Given the description of an element on the screen output the (x, y) to click on. 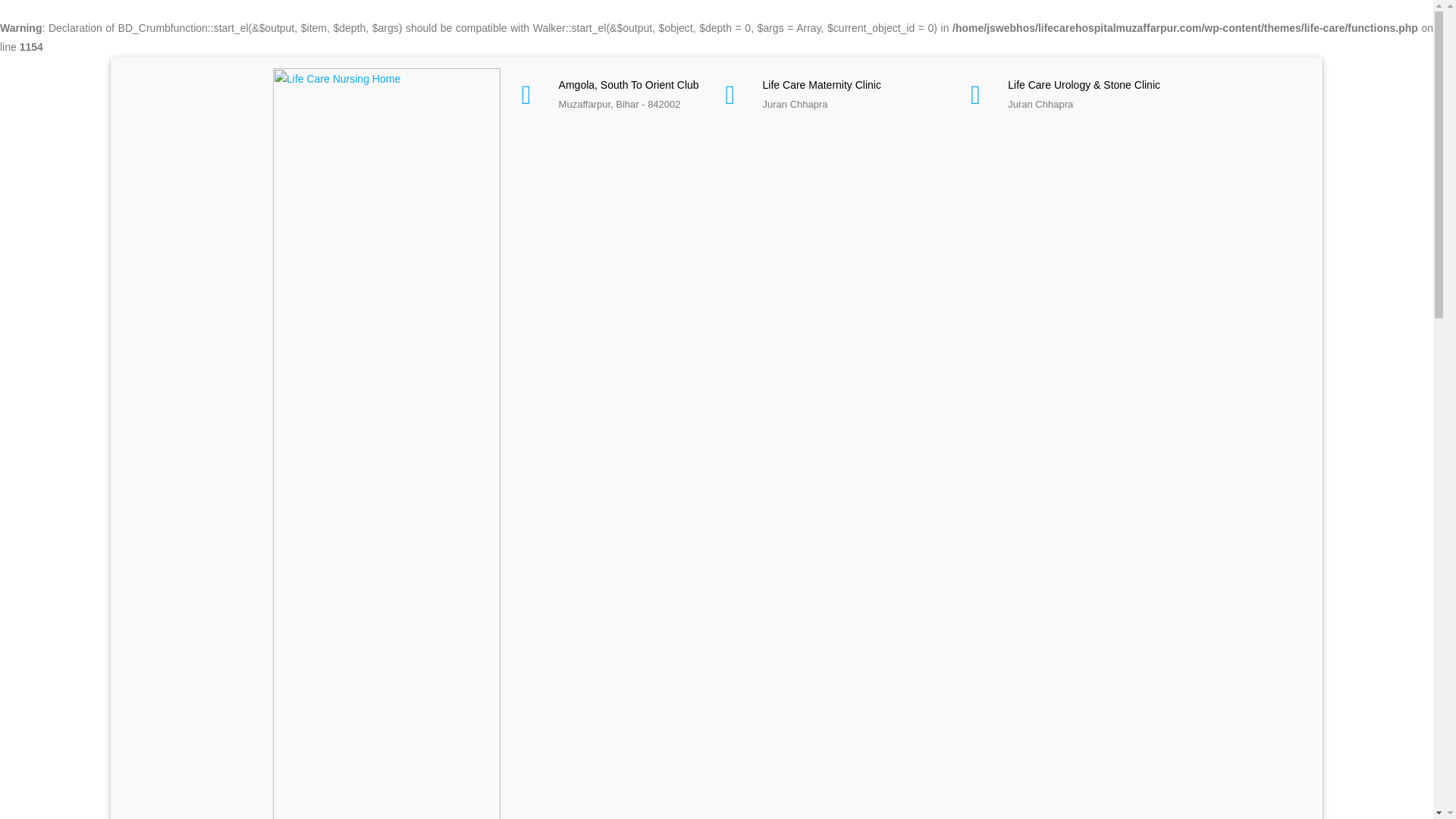
Life Care Nursing Home (386, 476)
